Given the description of an element on the screen output the (x, y) to click on. 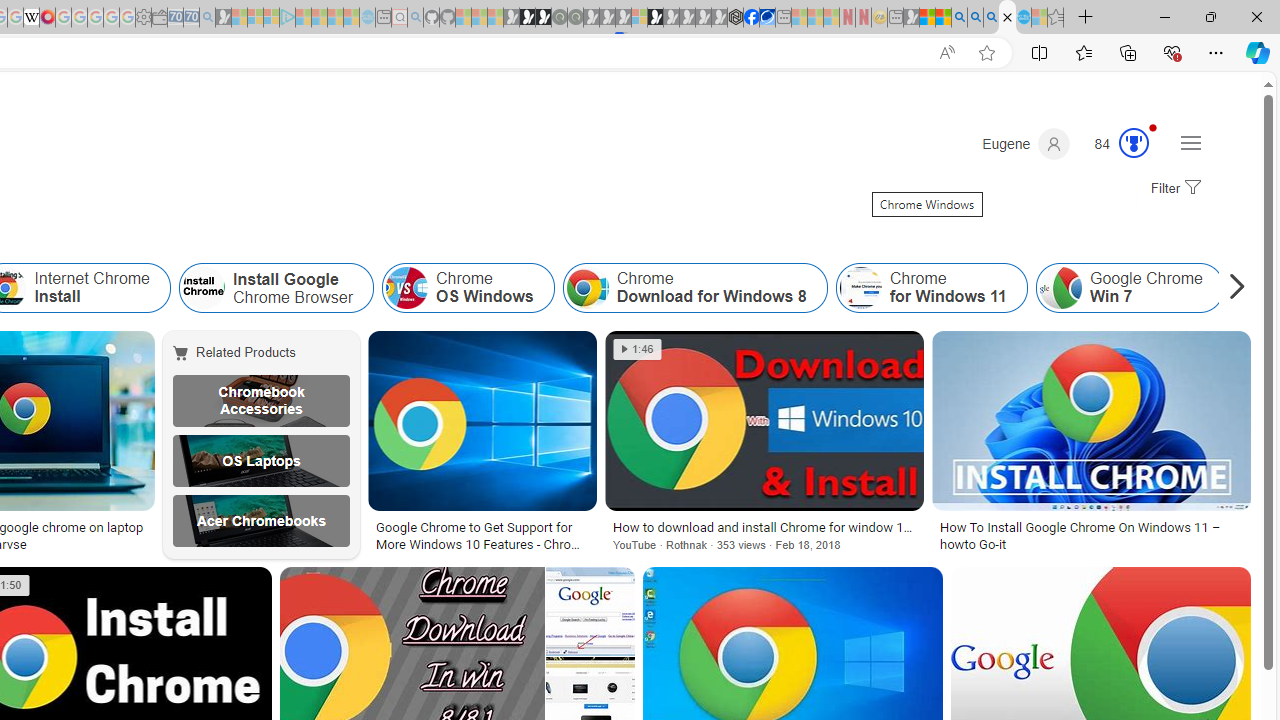
Settings - Sleeping (143, 17)
Nordace - Cooler Bags (735, 17)
Home | Sky Blue Bikes - Sky Blue Bikes - Sleeping (367, 17)
Chromebook Accessories (260, 400)
github - Search - Sleeping (415, 17)
Image result for Chrome Windows (1090, 421)
Favorites - Sleeping (1055, 17)
Google Chrome Win 7 (1128, 287)
2009 Bing officially replaced Live Search on June 3 - Search (975, 17)
